Given the description of an element on the screen output the (x, y) to click on. 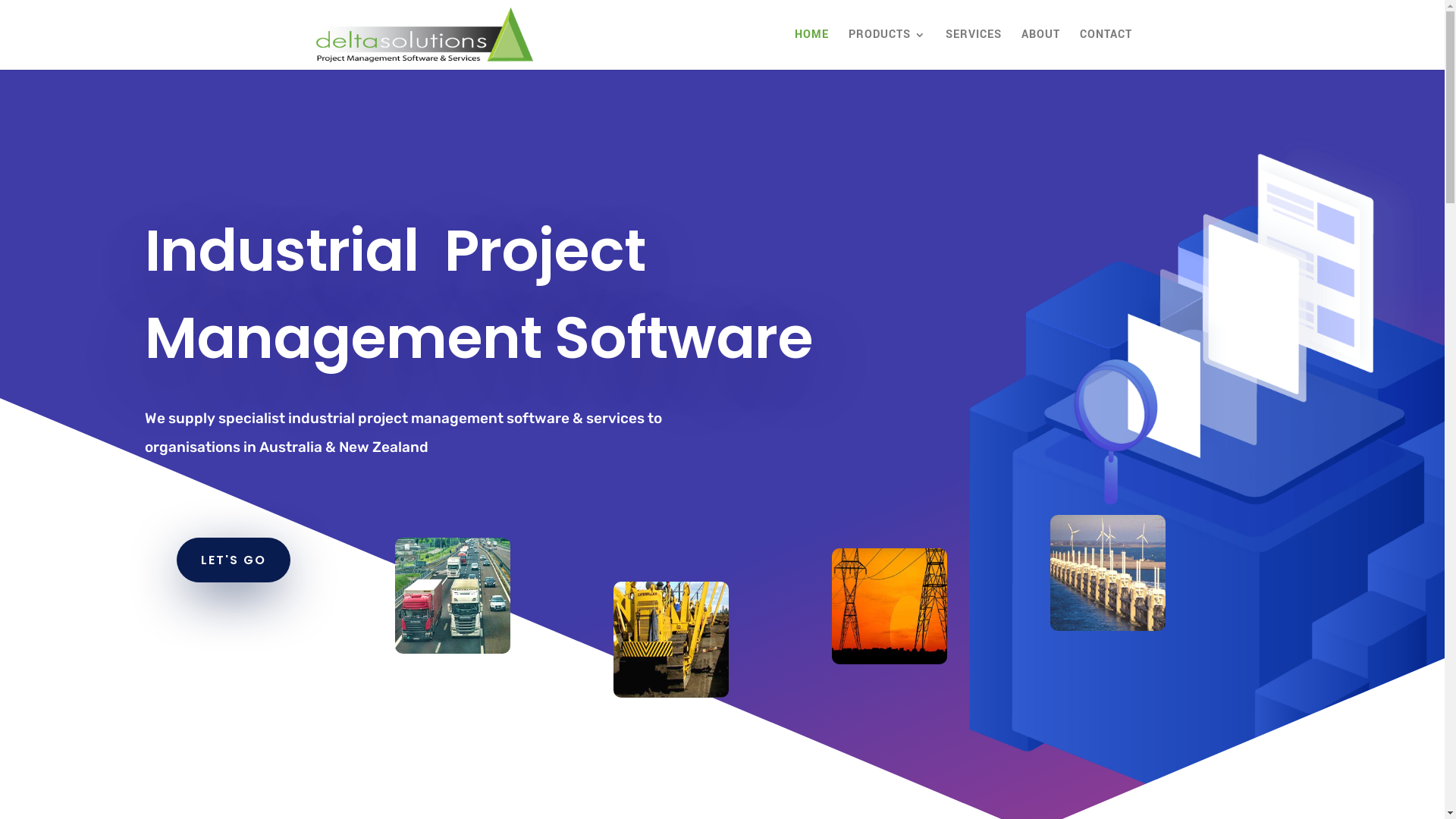
ABOUT Element type: text (1039, 49)
HOME Element type: text (811, 49)
LET'S GO Element type: text (232, 559)
PRODUCTS Element type: text (886, 49)
Industrial Project Management Software Element type: hover (1107, 572)
CONTACT Element type: text (1105, 49)
SERVICES Element type: text (972, 49)
Industrial Project Management Software Element type: hover (670, 639)
Industrial Project Management Software Element type: hover (889, 606)
Infrastructure Project Management Software Element type: hover (452, 595)
